Given the description of an element on the screen output the (x, y) to click on. 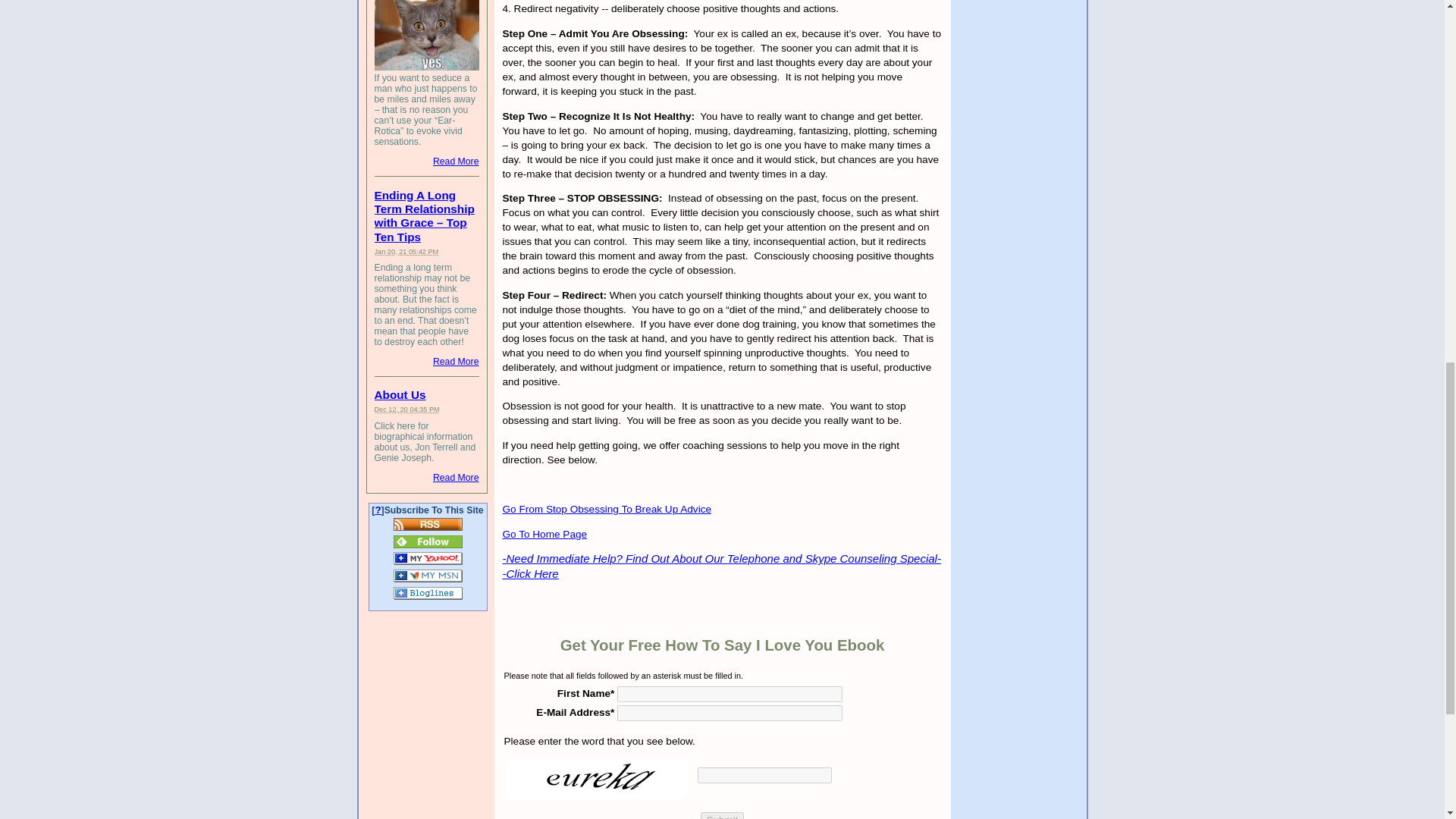
Read More (455, 361)
Read More (455, 477)
2020-12-12T16:35:09-0500 (406, 409)
Go From Stop Obsessing To Break Up Advice (606, 509)
Submit (722, 815)
About Us (400, 394)
Read More (455, 161)
2021-01-20T17:42:57-0500 (406, 250)
Submit (722, 815)
